Given the description of an element on the screen output the (x, y) to click on. 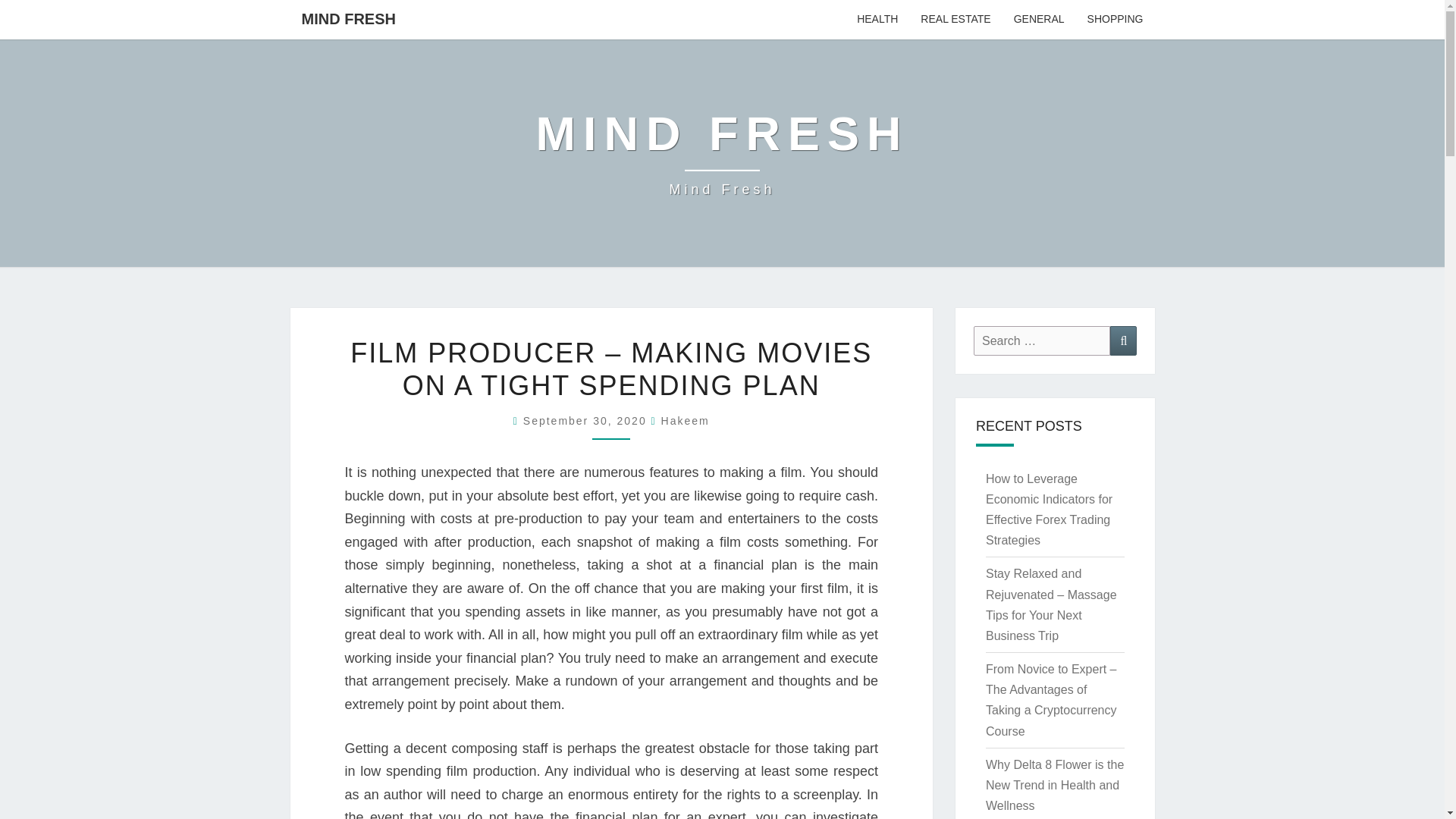
5:41 am (586, 420)
September 30, 2020 (586, 420)
HEALTH (876, 19)
GENERAL (1039, 19)
Why Delta 8 Flower is the New Trend in Health and Wellness (1054, 785)
Search for: (1041, 340)
Hakeem (685, 420)
View all posts by Hakeem (685, 420)
Search (1123, 340)
MIND FRESH (347, 18)
